Given the description of an element on the screen output the (x, y) to click on. 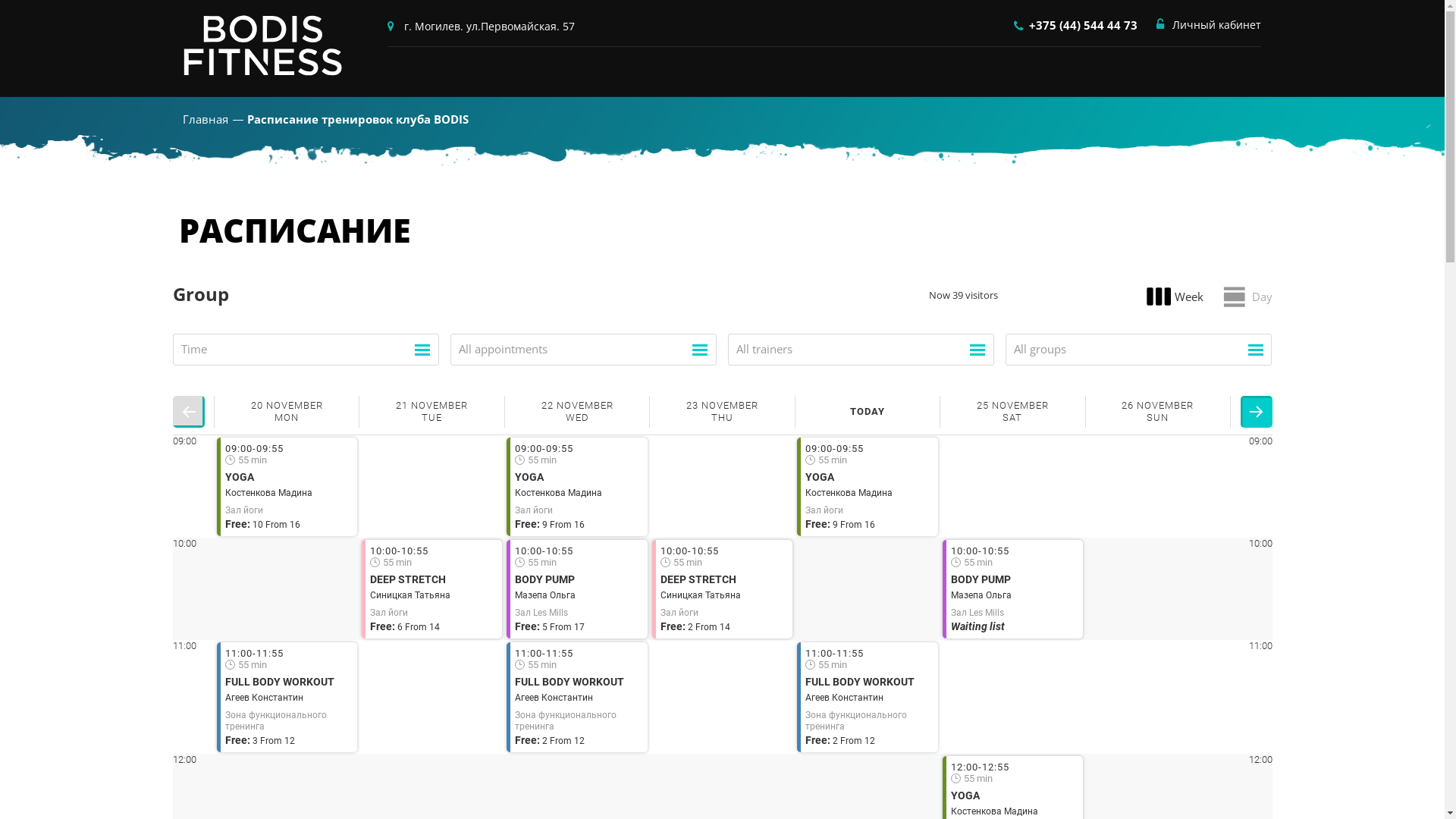
Day Element type: text (1245, 296)
Group Element type: text (200, 293)
Next Element type: text (1256, 411)
+375 (44) 544 44 73 Element type: text (1076, 24)
Week Element type: text (1172, 296)
Prev Element type: text (188, 411)
